Given the description of an element on the screen output the (x, y) to click on. 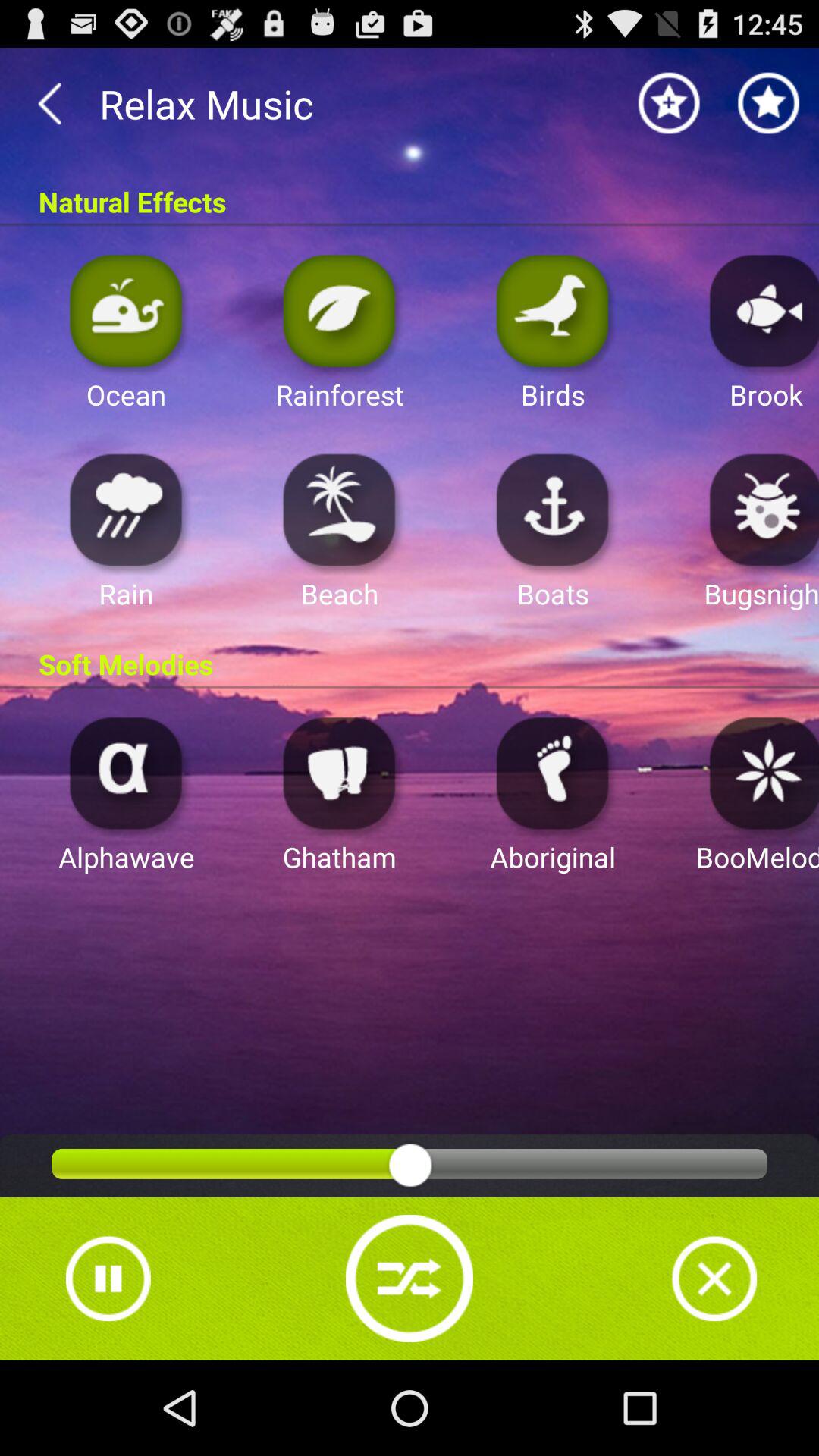
choose effect (759, 772)
